Given the description of an element on the screen output the (x, y) to click on. 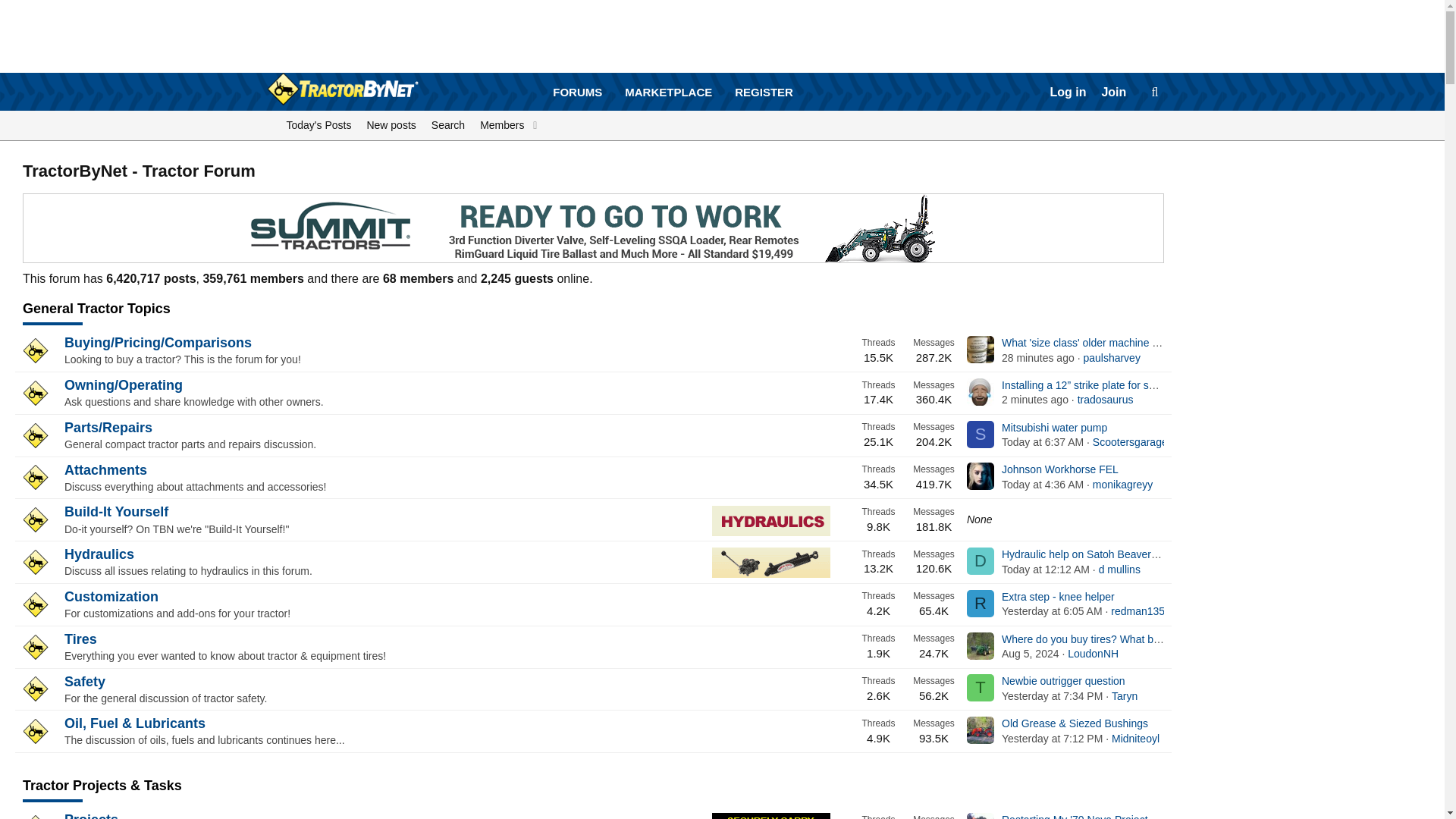
Join (1113, 92)
Members (498, 125)
Mitsubishi water pump (1053, 427)
Aug 13, 2024 at 6:05 AM (1051, 611)
Aug 14, 2024 at 7:43 AM (1034, 399)
Log in (673, 92)
FORUMS (1067, 92)
Today's Posts (576, 91)
MARKETPLACE (319, 125)
